Given the description of an element on the screen output the (x, y) to click on. 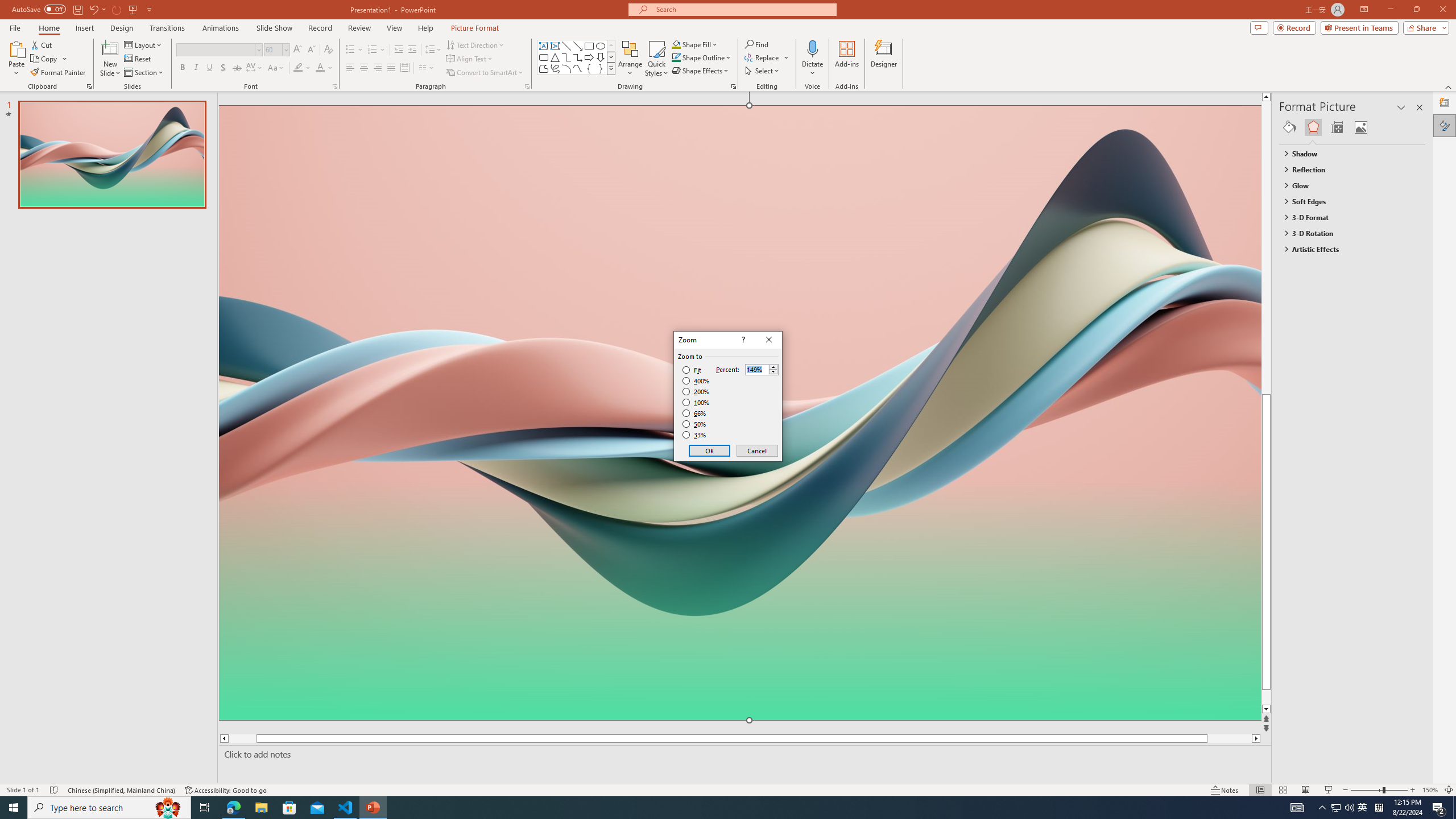
Effects (1313, 126)
Fill & Line (1288, 126)
Soft Edges (1347, 201)
